Given the description of an element on the screen output the (x, y) to click on. 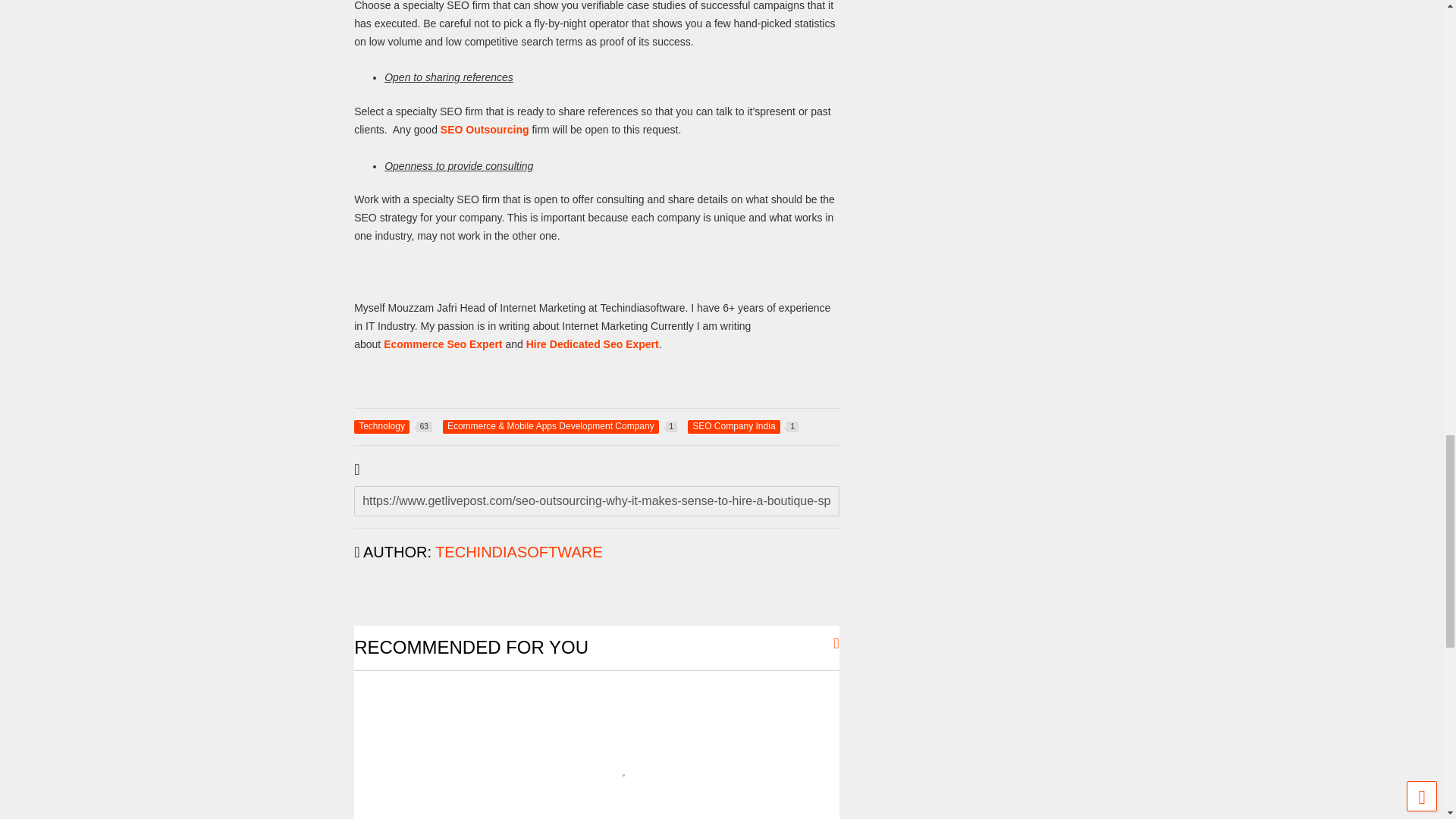
Ecommerce Seo Expert (392, 427)
SEO Outsourcing (742, 427)
TECHINDIASOFTWARE (443, 344)
Hire Dedicated Seo Expert (485, 129)
author profile (518, 551)
